Given the description of an element on the screen output the (x, y) to click on. 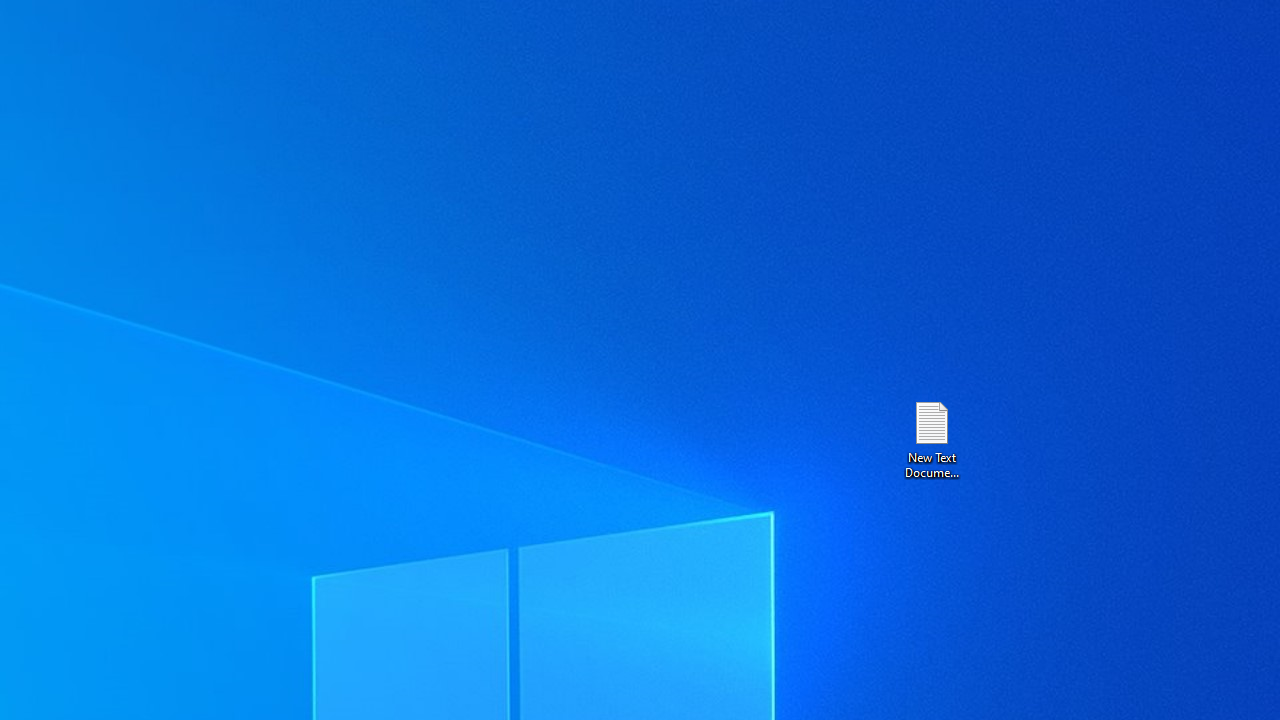
New Text Document (2) (931, 438)
